Given the description of an element on the screen output the (x, y) to click on. 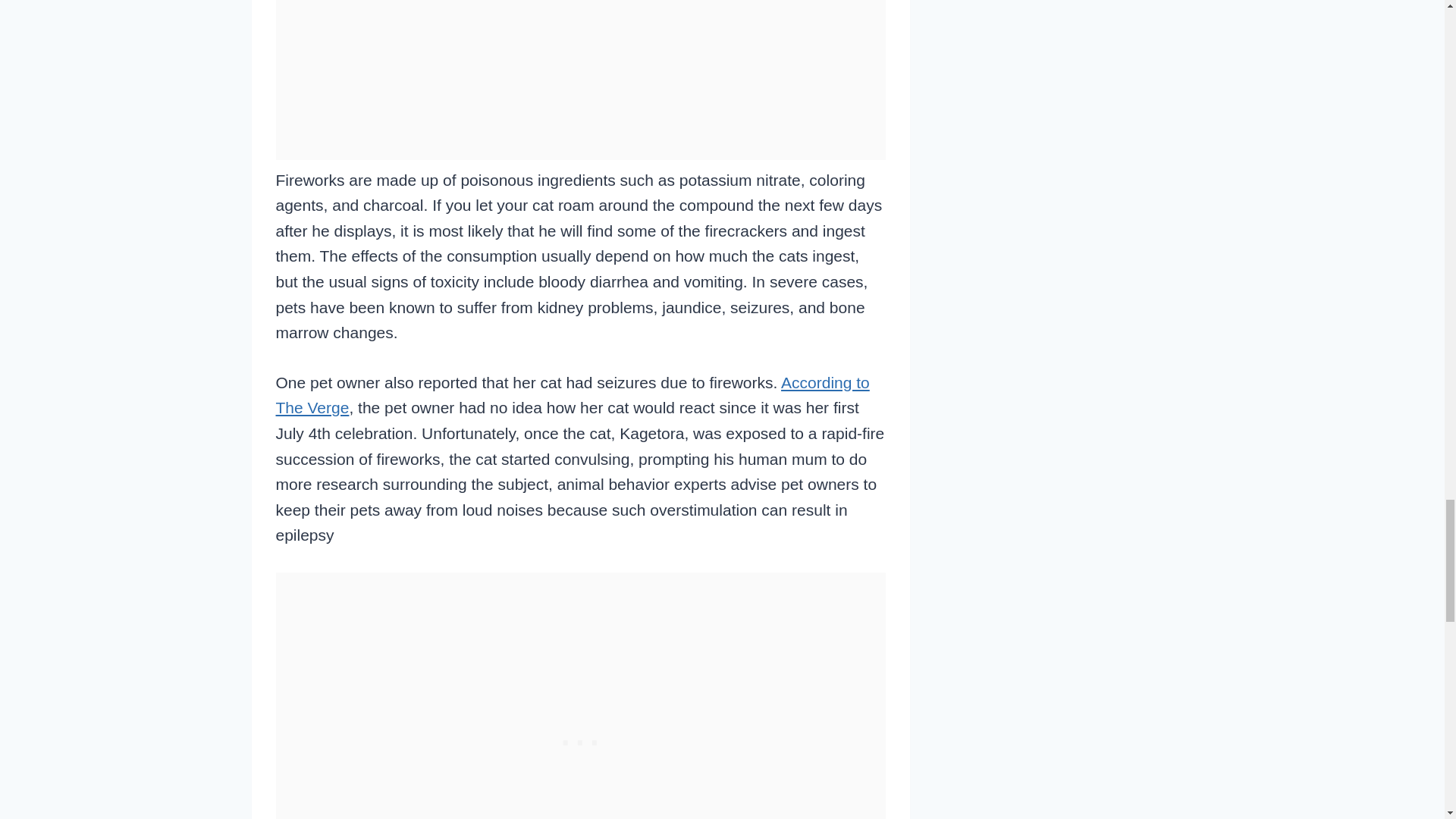
According to The Verge (572, 394)
